Given the description of an element on the screen output the (x, y) to click on. 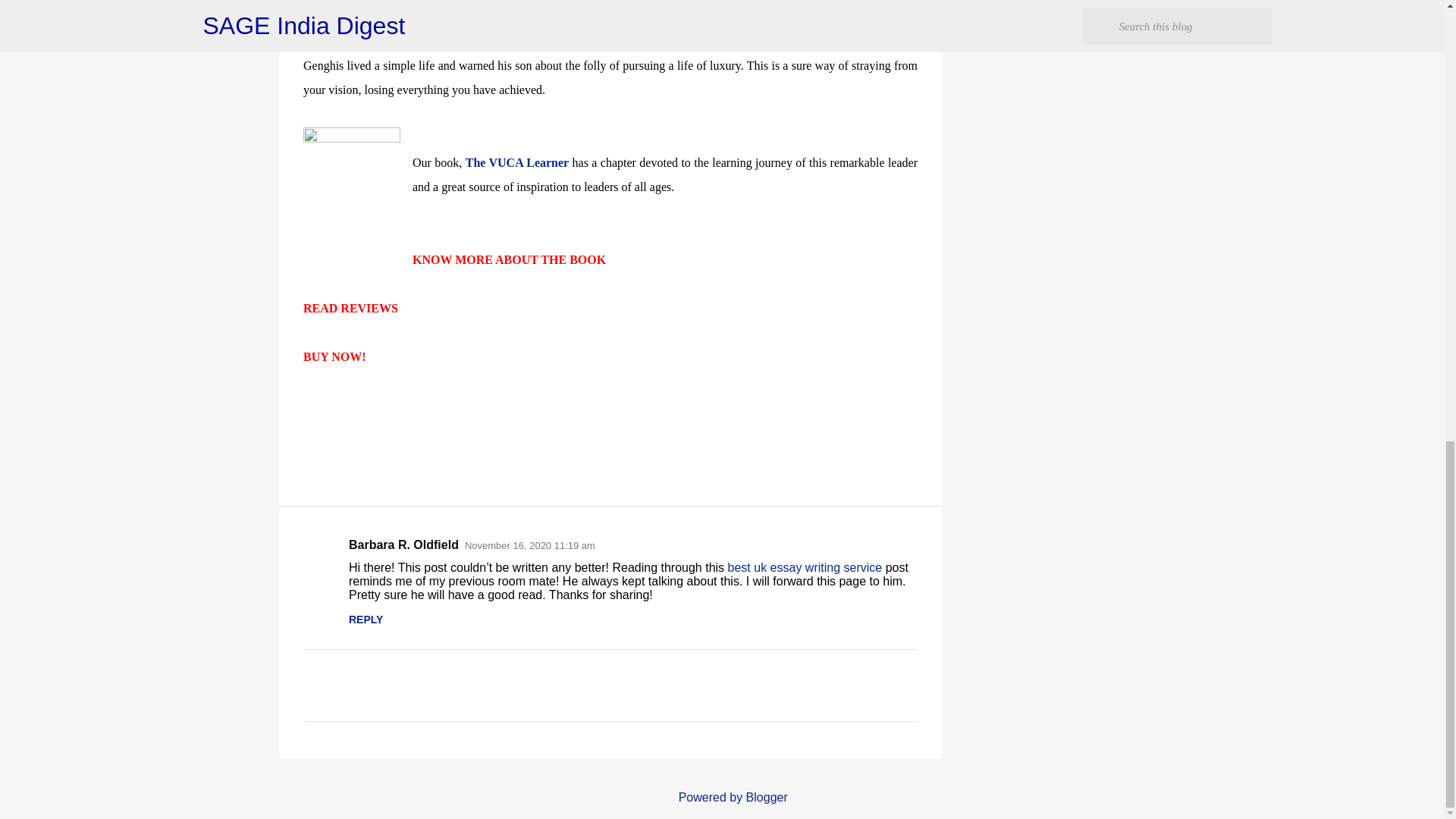
November 16, 2020 11:19 am (529, 545)
BUY NOW! (334, 356)
Email Post (311, 408)
READ REVIEWS (349, 308)
best uk essay writing service (805, 567)
The VUCA Learner (517, 162)
REPLY (365, 619)
Barbara R. Oldfield (403, 544)
KNOW MORE ABOUT THE BOOK (508, 259)
Powered by Blogger (721, 797)
